Given the description of an element on the screen output the (x, y) to click on. 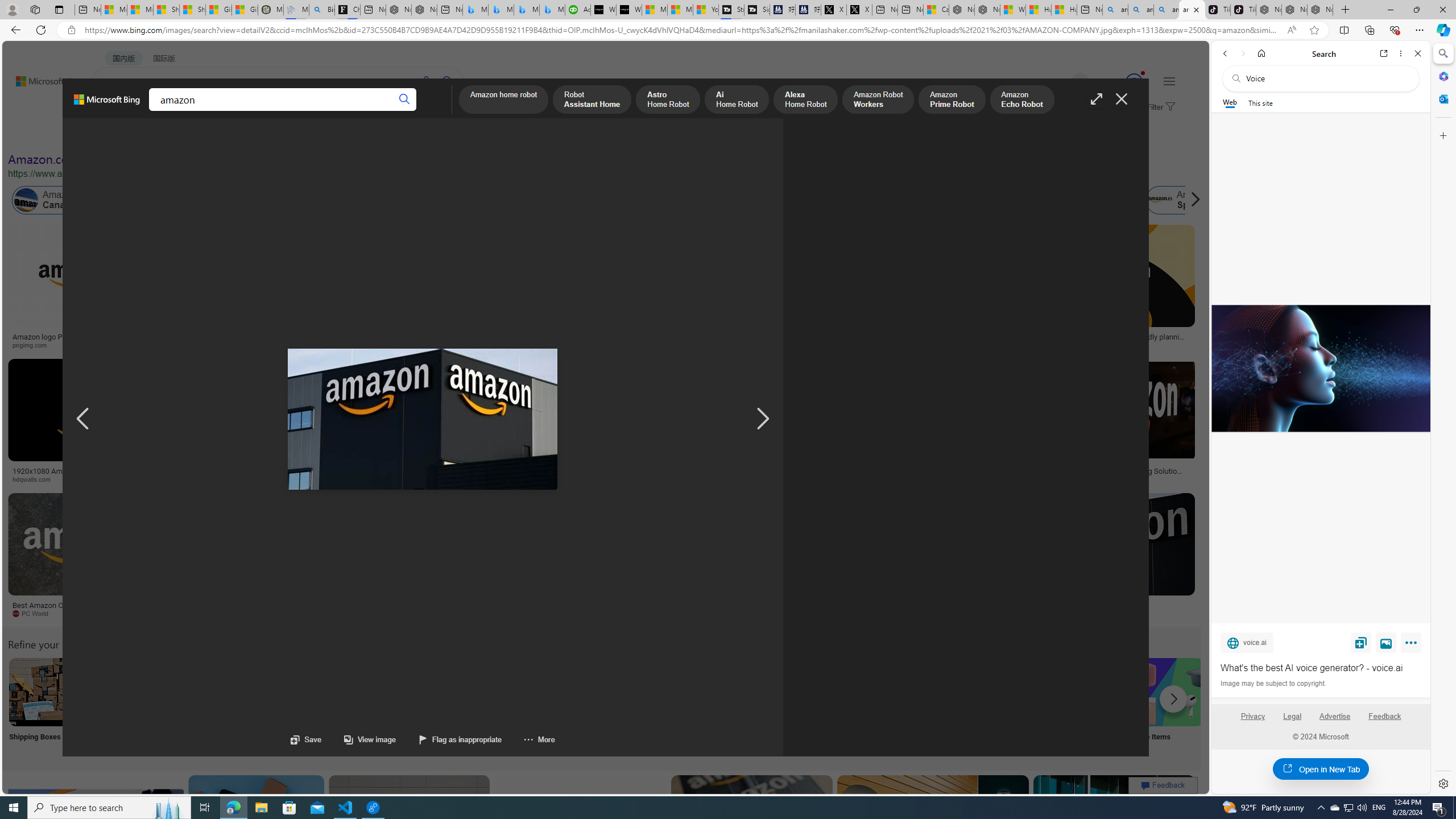
Dropdown Menu (443, 111)
X (858, 9)
ACADEMIC (311, 111)
New tab (1089, 9)
Amazon (1105, 605)
Online Store (644, 706)
Side bar (1443, 418)
theverge.com (1068, 344)
Jobs Near Me (342, 706)
Amazon Logo Png Hd Wallpaper | Images and Photos finder (559, 340)
TikTok (1242, 9)
GOBankingRates (275, 479)
Scroll right (1192, 199)
